Given the description of an element on the screen output the (x, y) to click on. 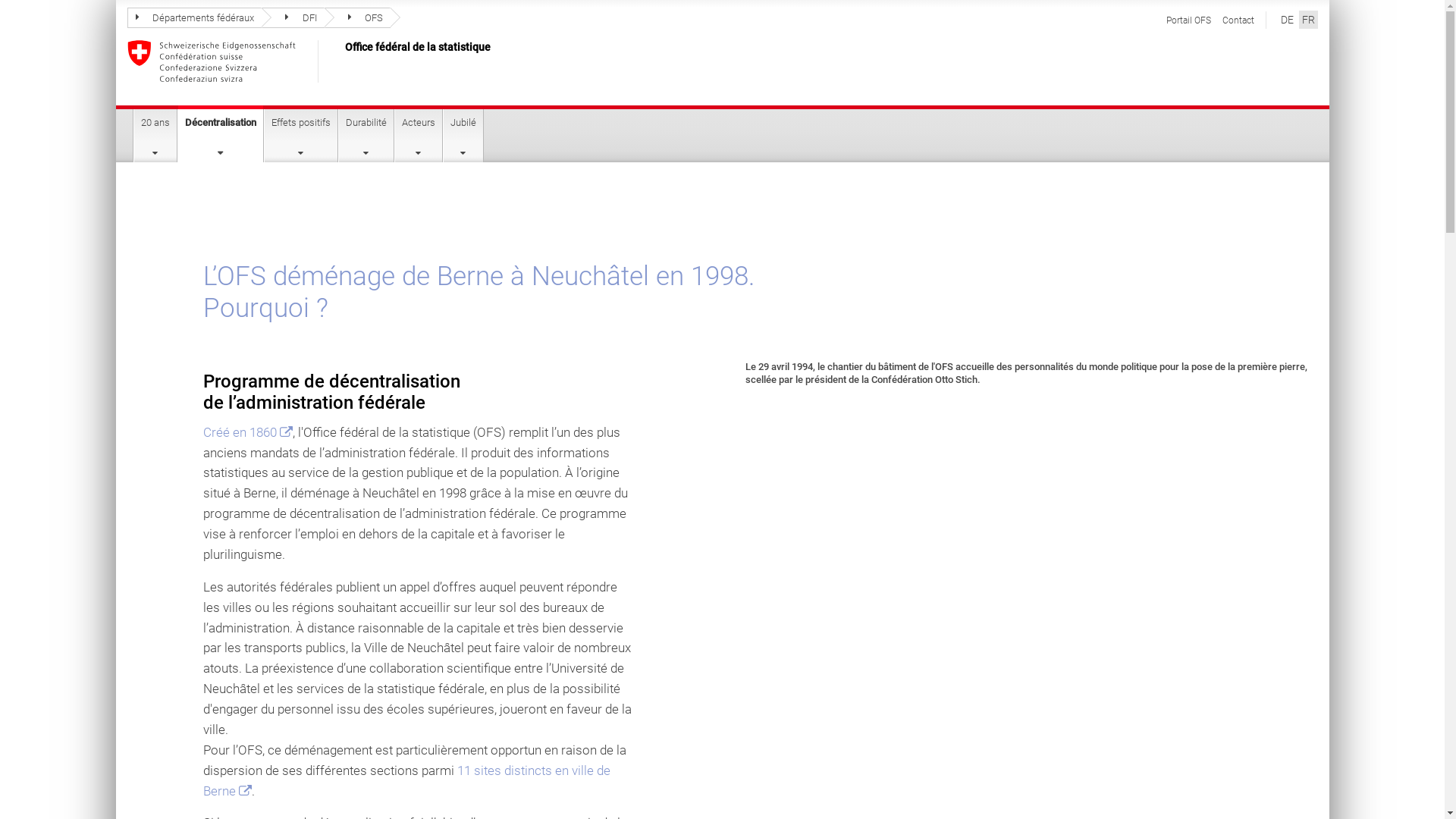
FR Element type: text (1307, 19)
Acteurs Element type: text (418, 135)
Effets positifs Element type: text (300, 135)
20 ans Element type: text (155, 135)
DE Element type: text (1286, 19)
11 sites distincts en ville de Berne  Element type: text (406, 780)
DFI Element type: text (292, 17)
OFS Element type: text (357, 17)
Portail OFS Element type: text (1188, 20)
Contact Element type: text (1238, 20)
